Given the description of an element on the screen output the (x, y) to click on. 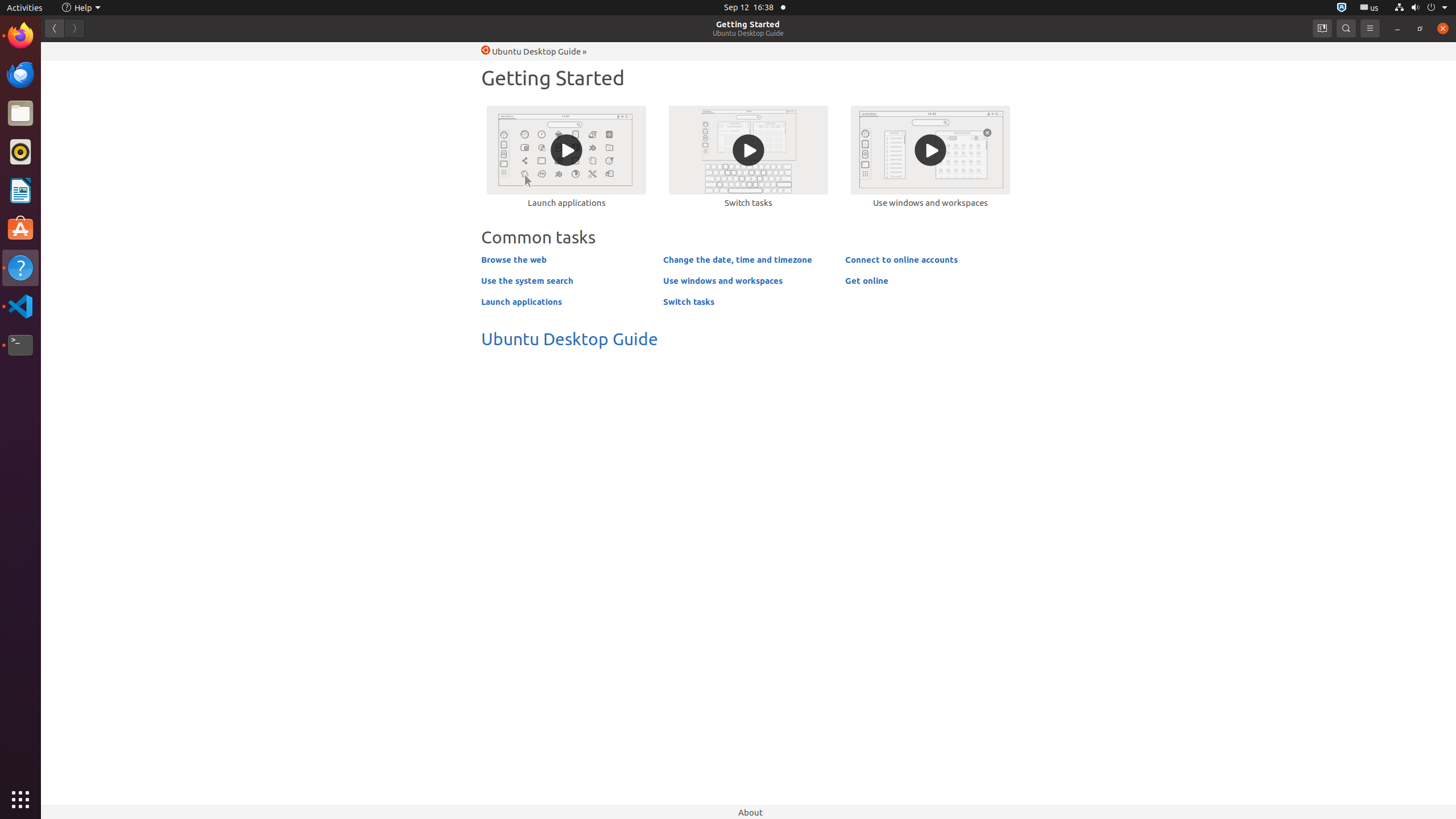
Activities Element type: label (24, 7)
Getting Started Element type: label (747, 24)
Switch tasks Element type: link (748, 156)
